Given the description of an element on the screen output the (x, y) to click on. 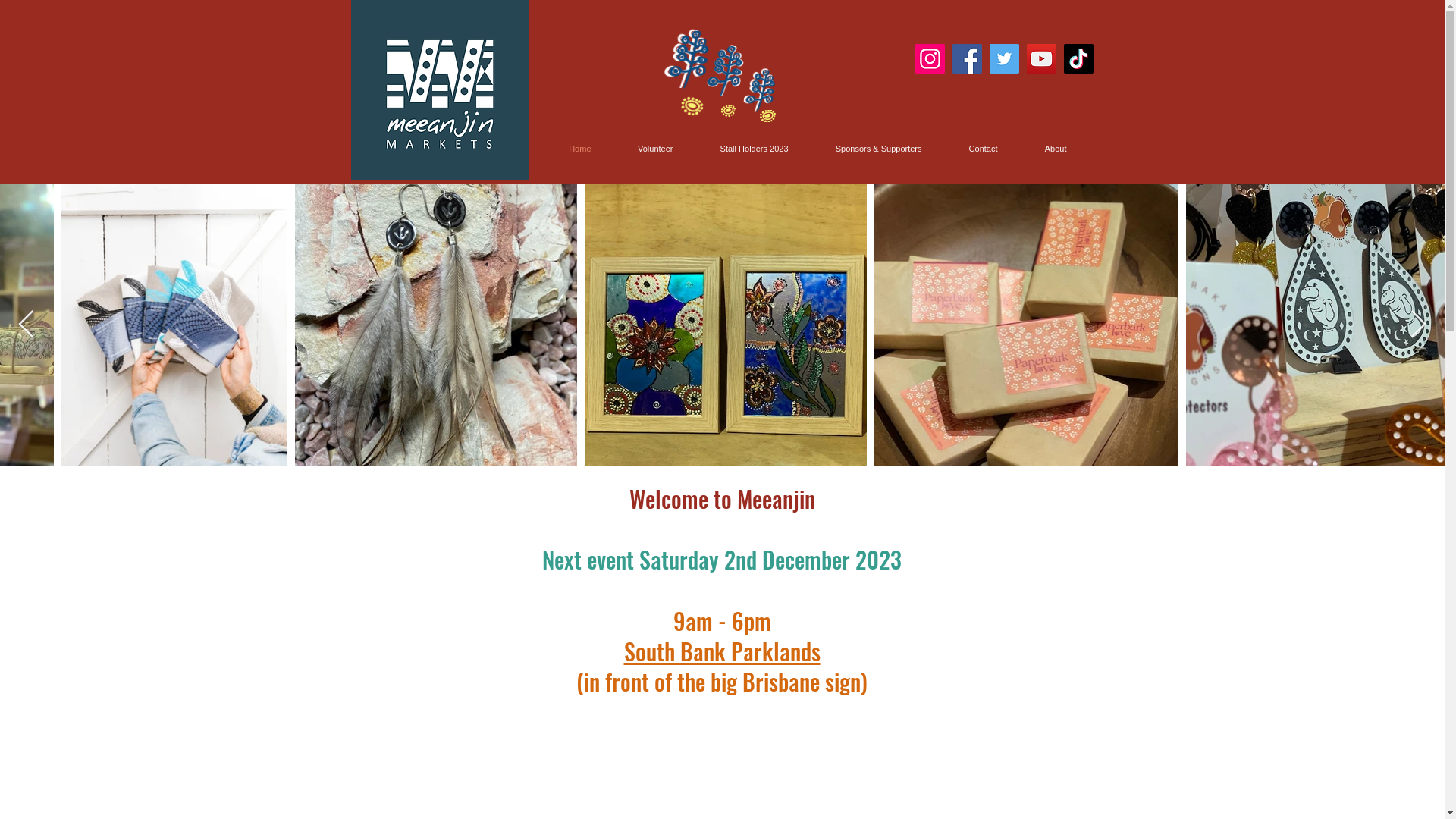
Volunteer Element type: text (639, 148)
BLUE TREE-01.png Element type: hover (721, 67)
Circle yellow overlay.png Element type: hover (688, 101)
BLUE TREE-01.png Element type: hover (685, 55)
White Tree.png Element type: hover (720, 68)
Circle yellow overlay.png Element type: hover (727, 110)
Home Element type: text (564, 148)
White Tree.png Element type: hover (754, 87)
Contact Element type: text (967, 148)
Stall Holders 2023 Element type: text (738, 148)
South Bank Parklands Element type: text (721, 650)
Circle yellow overlay.png Element type: hover (767, 115)
White Tree.png Element type: hover (680, 55)
About Element type: text (1039, 148)
Sponsors & Supporters Element type: text (862, 148)
BLUE TREE-01.png Element type: hover (758, 88)
